Given the description of an element on the screen output the (x, y) to click on. 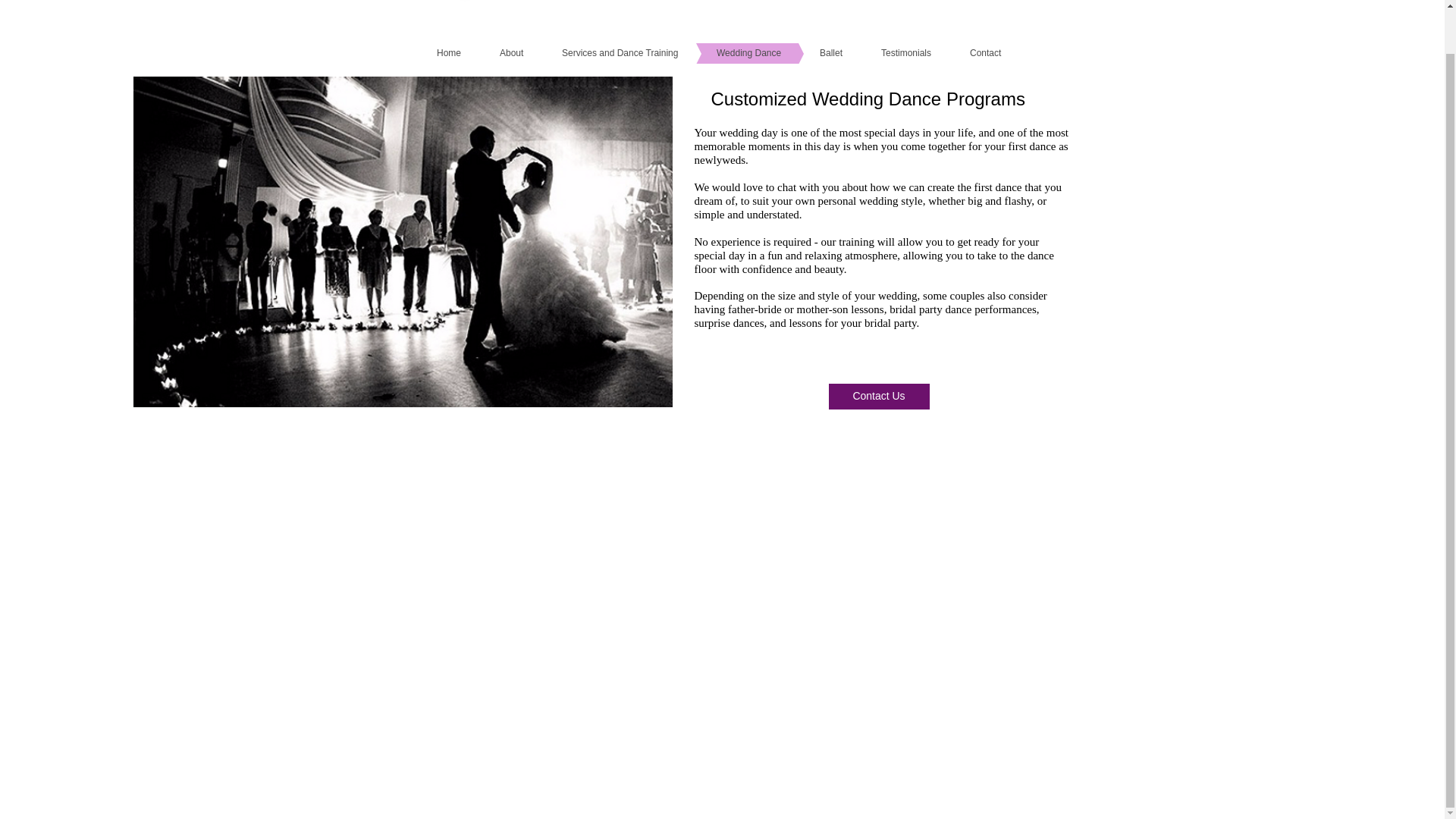
Home (425, 53)
Contact (962, 53)
Ballet (807, 53)
Testimonials (882, 53)
Wedding Dance (725, 53)
Services and Dance Training (596, 53)
About (488, 53)
Contact Us (878, 396)
